Given the description of an element on the screen output the (x, y) to click on. 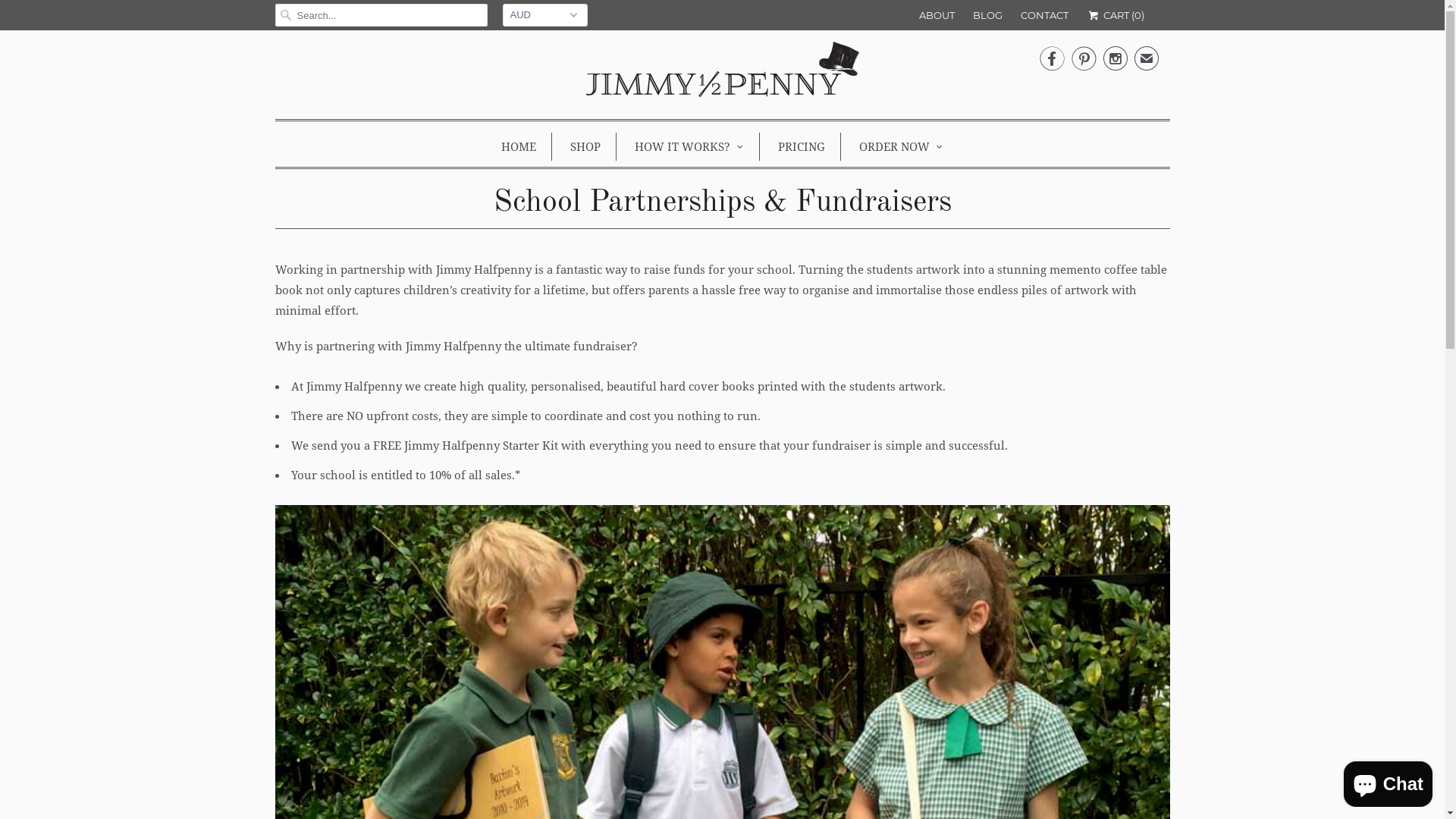
Jimmy Halfpenny Element type: hover (721, 72)
BLOG Element type: text (987, 14)
HOW IT WORKS? Element type: text (688, 145)
PRICING Element type: text (801, 145)
Shopify online store chat Element type: hover (1388, 780)
CART (0) Element type: text (1114, 14)
SHOP Element type: text (585, 145)
CONTACT Element type: text (1044, 14)
ORDER NOW Element type: text (901, 145)
HOME Element type: text (518, 145)
ABOUT Element type: text (936, 14)
